Given the description of an element on the screen output the (x, y) to click on. 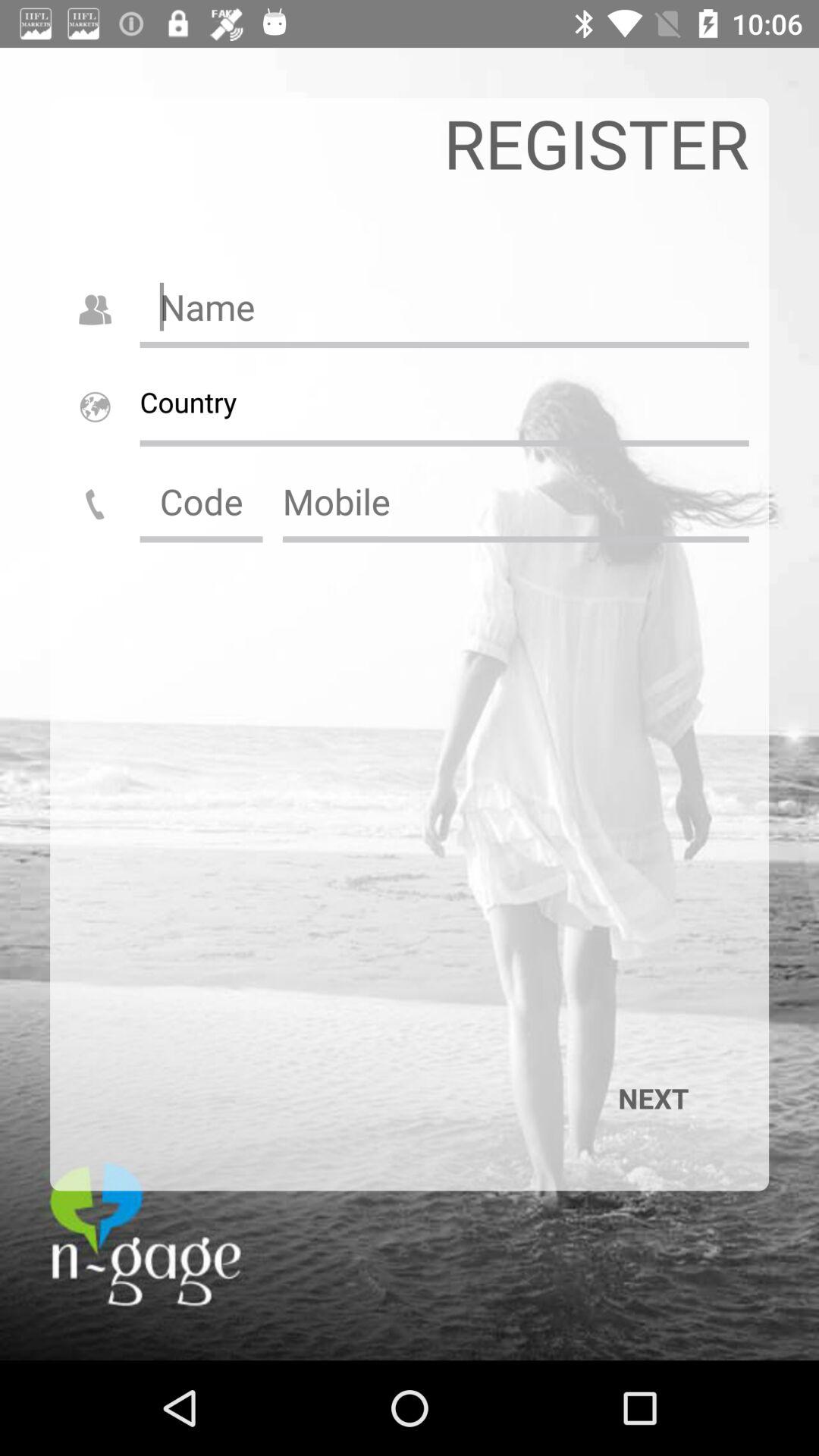
name (444, 306)
